Given the description of an element on the screen output the (x, y) to click on. 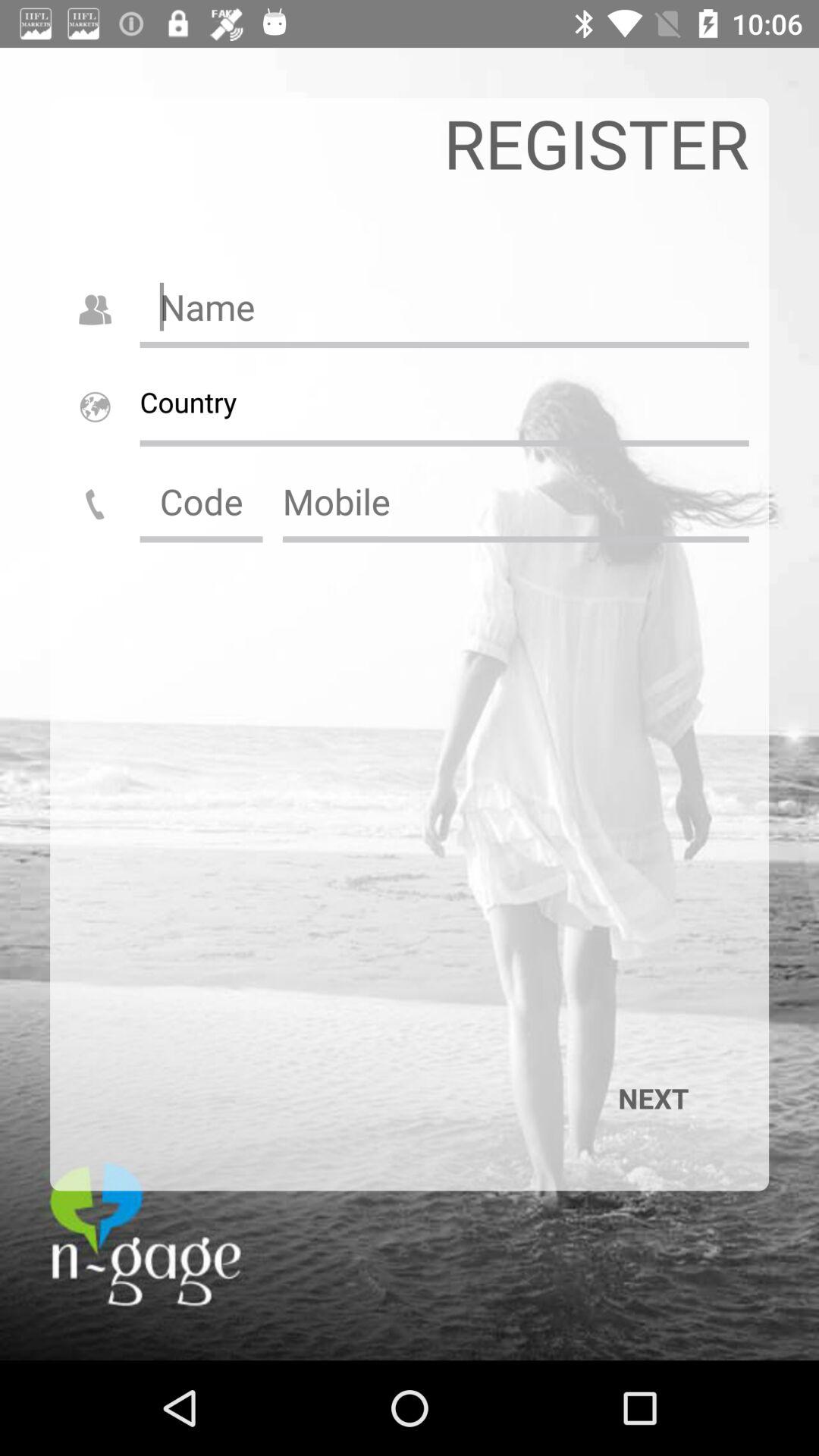
name (444, 306)
